Given the description of an element on the screen output the (x, y) to click on. 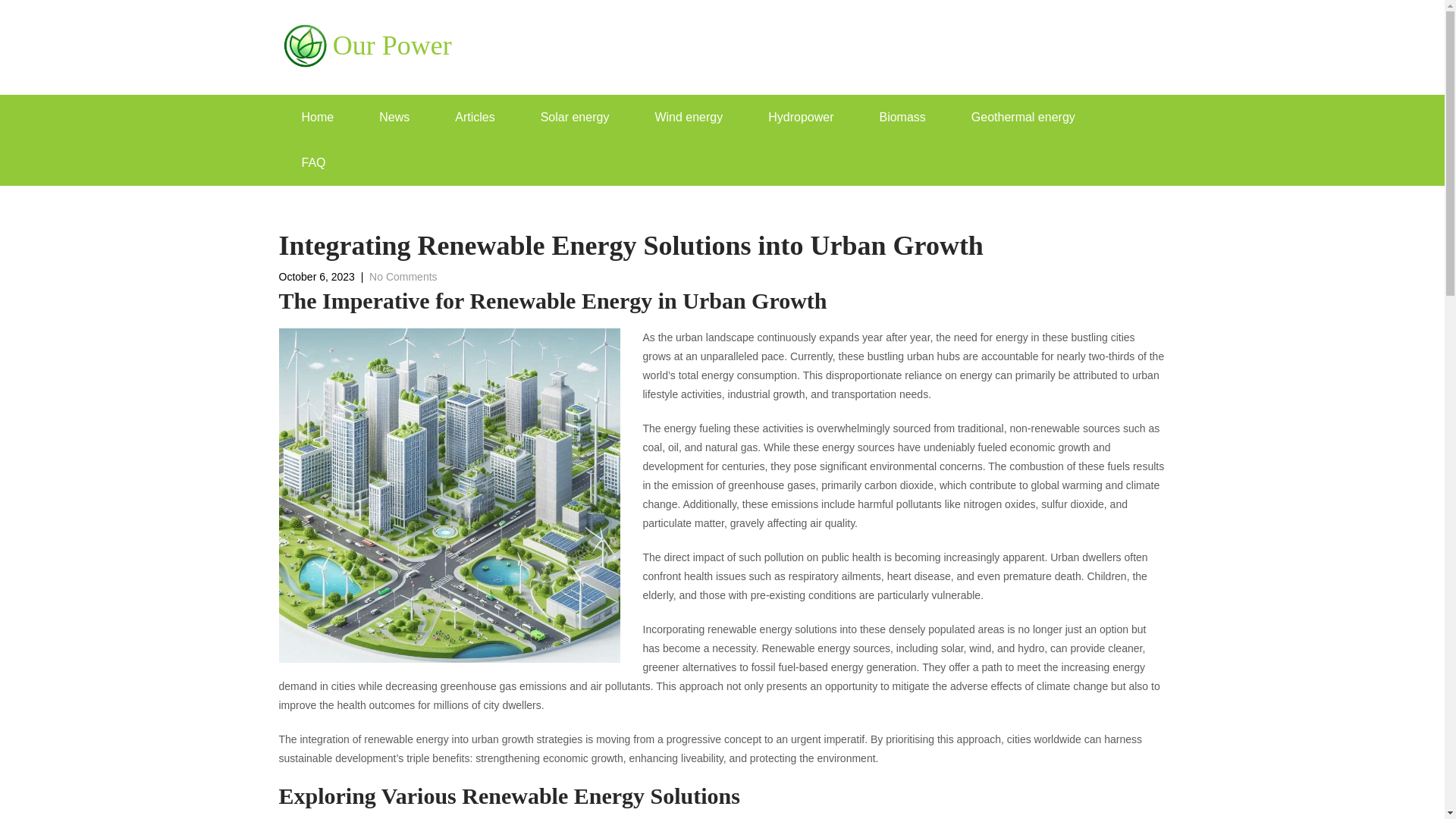
Solar energy (574, 117)
Home (317, 117)
No Comments (402, 276)
Hydropower (800, 117)
Wind energy (688, 117)
News (394, 117)
FAQ (314, 162)
Geothermal energy (1023, 117)
Articles (474, 117)
Biomass (901, 117)
